Given the description of an element on the screen output the (x, y) to click on. 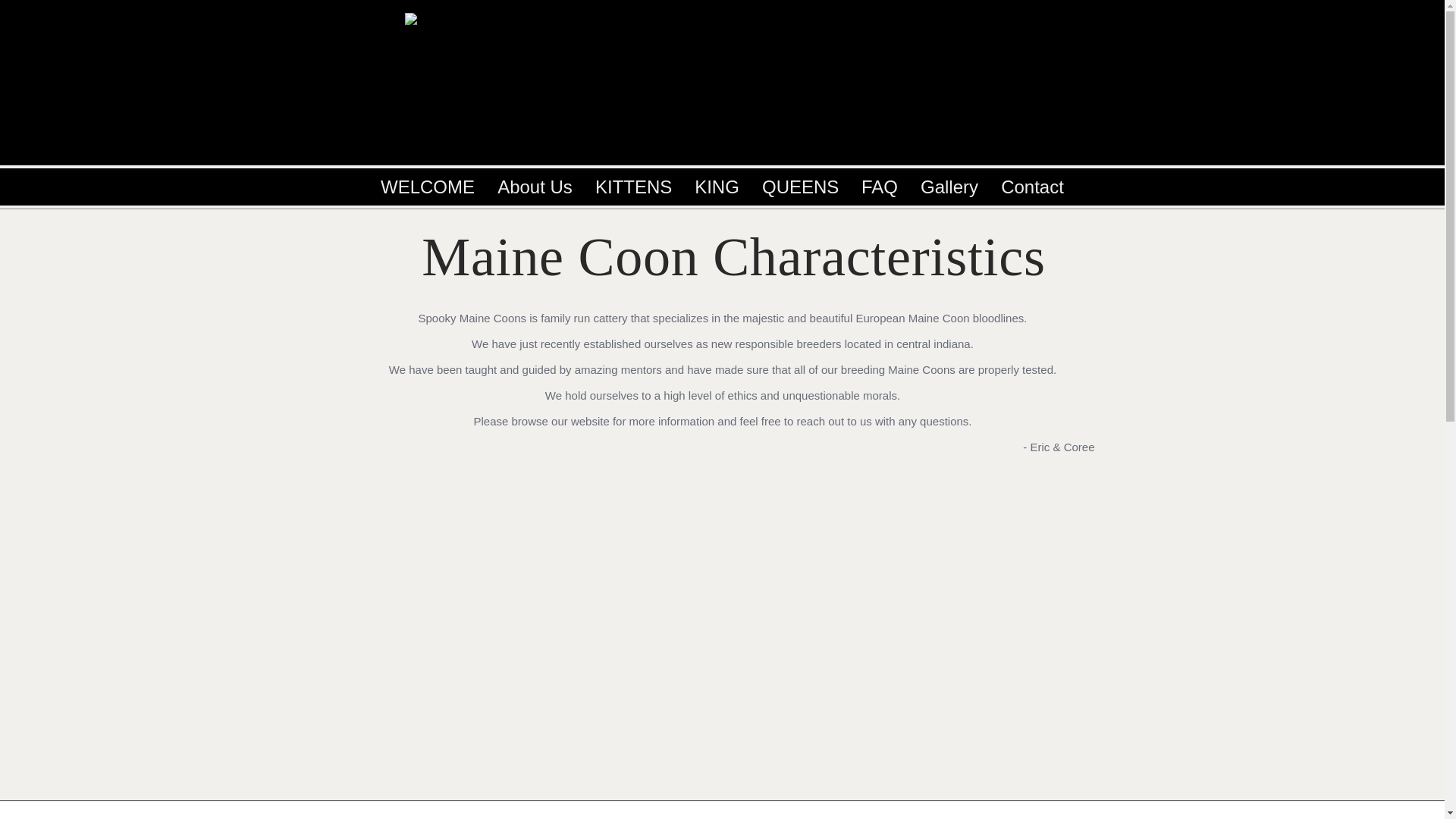
FAQ (879, 186)
KING (716, 186)
Contact (1032, 186)
Gallery (949, 186)
WELCOME (427, 186)
KITTENS (632, 186)
About Us (534, 186)
QUEENS (800, 186)
